Given the description of an element on the screen output the (x, y) to click on. 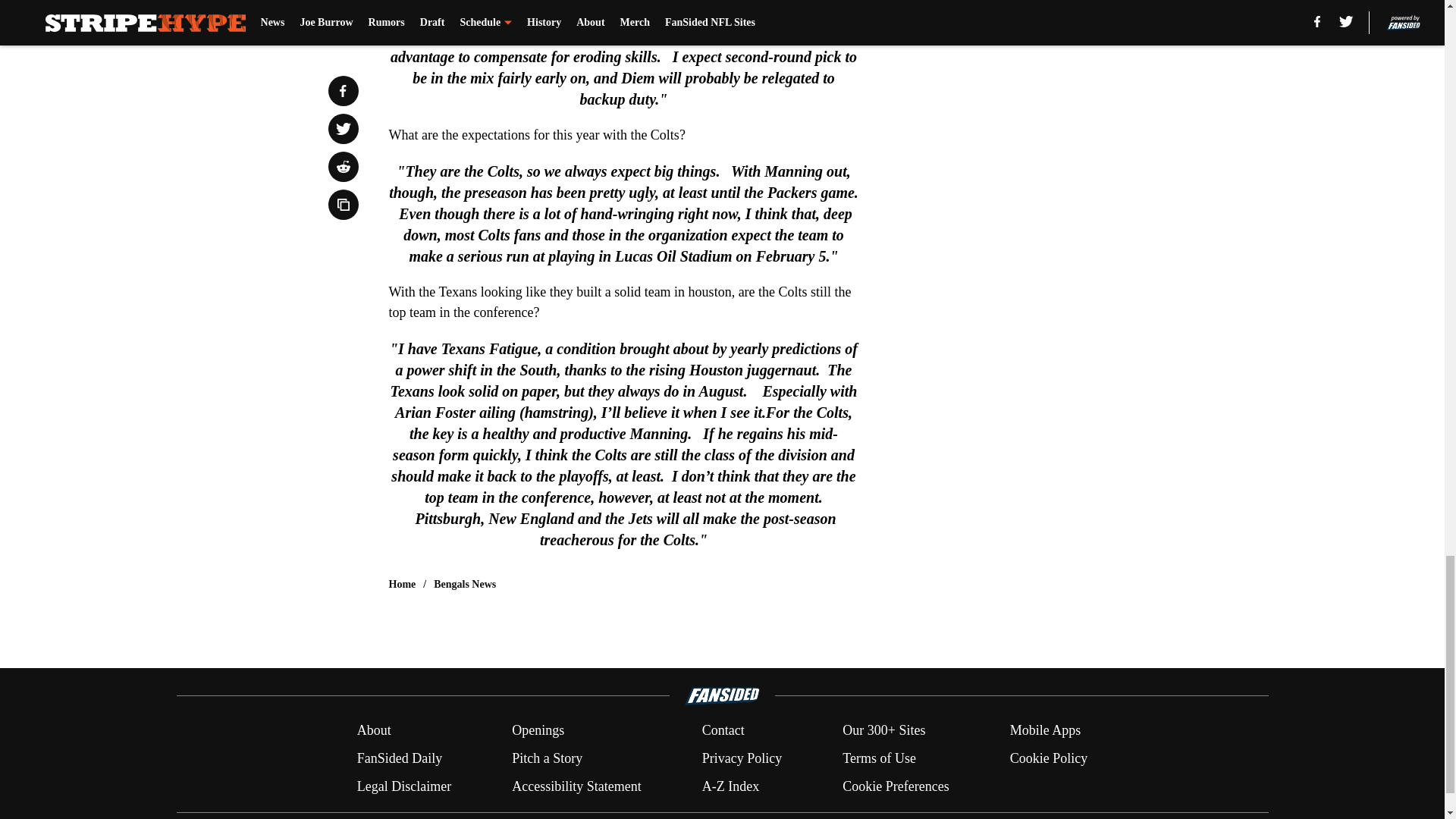
A-Z Index (729, 786)
Home (401, 584)
Contact (722, 730)
About (373, 730)
Openings (538, 730)
Mobile Apps (1045, 730)
Accessibility Statement (576, 786)
Legal Disclaimer (403, 786)
Terms of Use (879, 758)
Privacy Policy (742, 758)
Pitch a Story (547, 758)
FanSided Daily (399, 758)
Cookie Policy (1048, 758)
Cookie Preferences (896, 786)
Bengals News (464, 584)
